Given the description of an element on the screen output the (x, y) to click on. 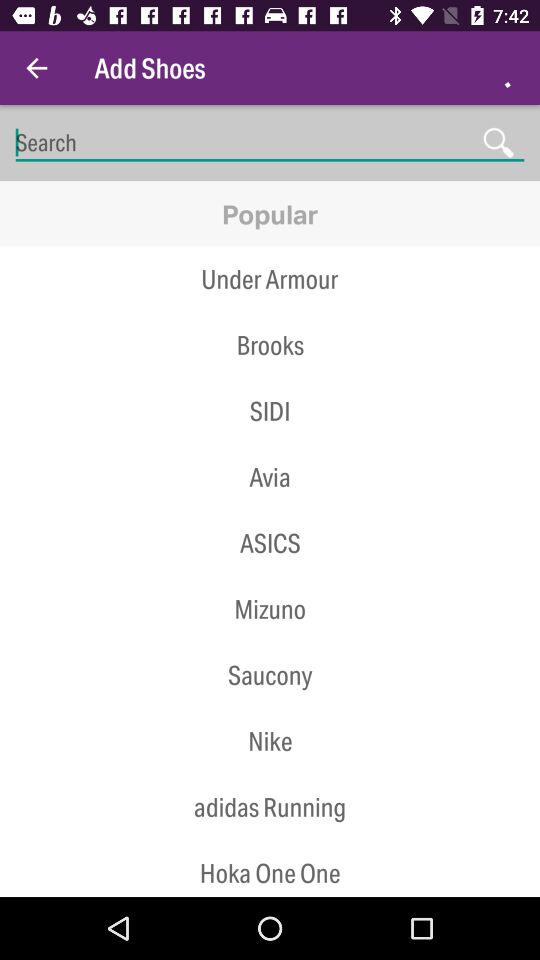
type any word to search (269, 142)
